Given the description of an element on the screen output the (x, y) to click on. 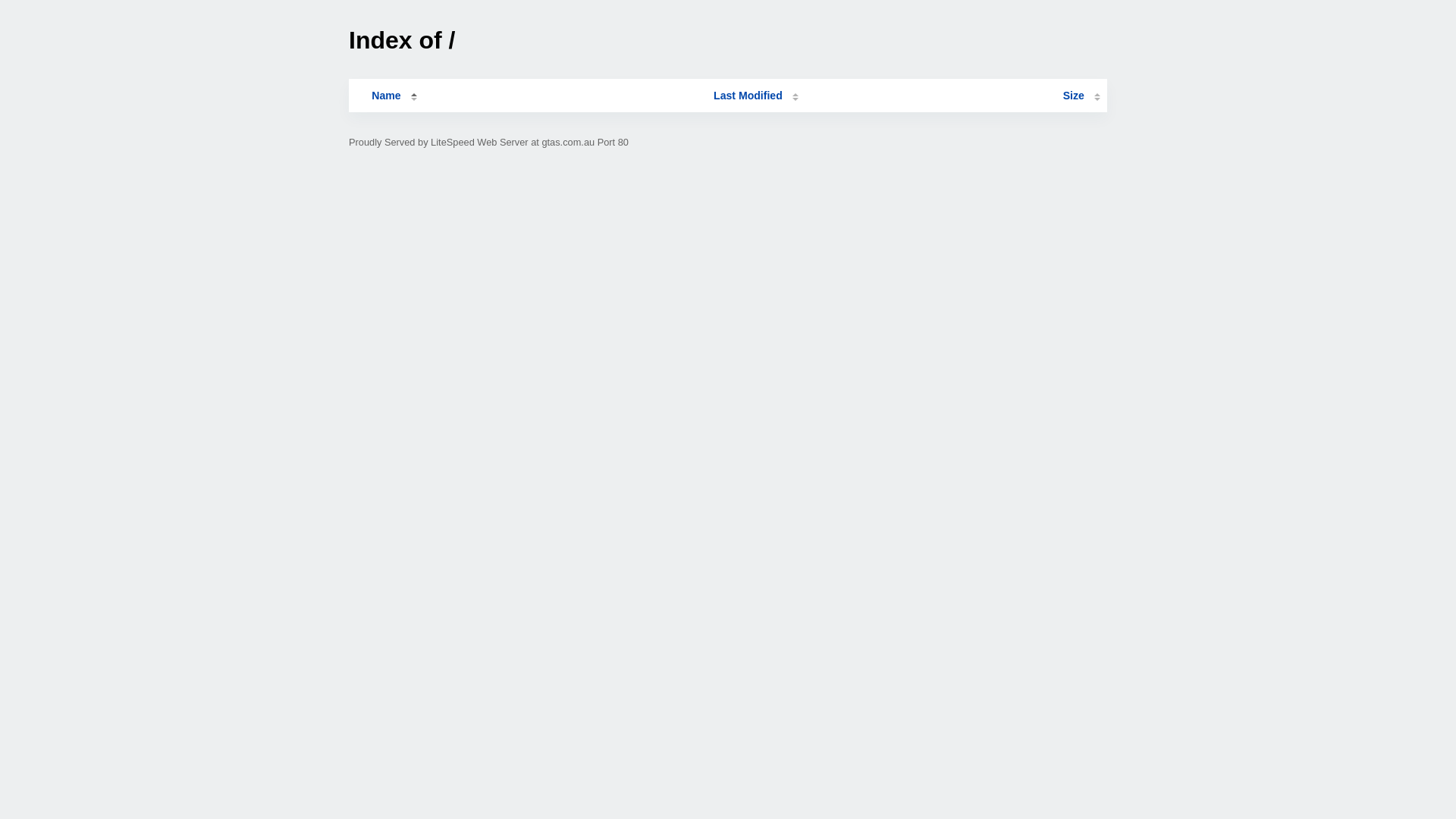
Name Element type: text (385, 95)
Size Element type: text (1081, 95)
Last Modified Element type: text (755, 95)
